Given the description of an element on the screen output the (x, y) to click on. 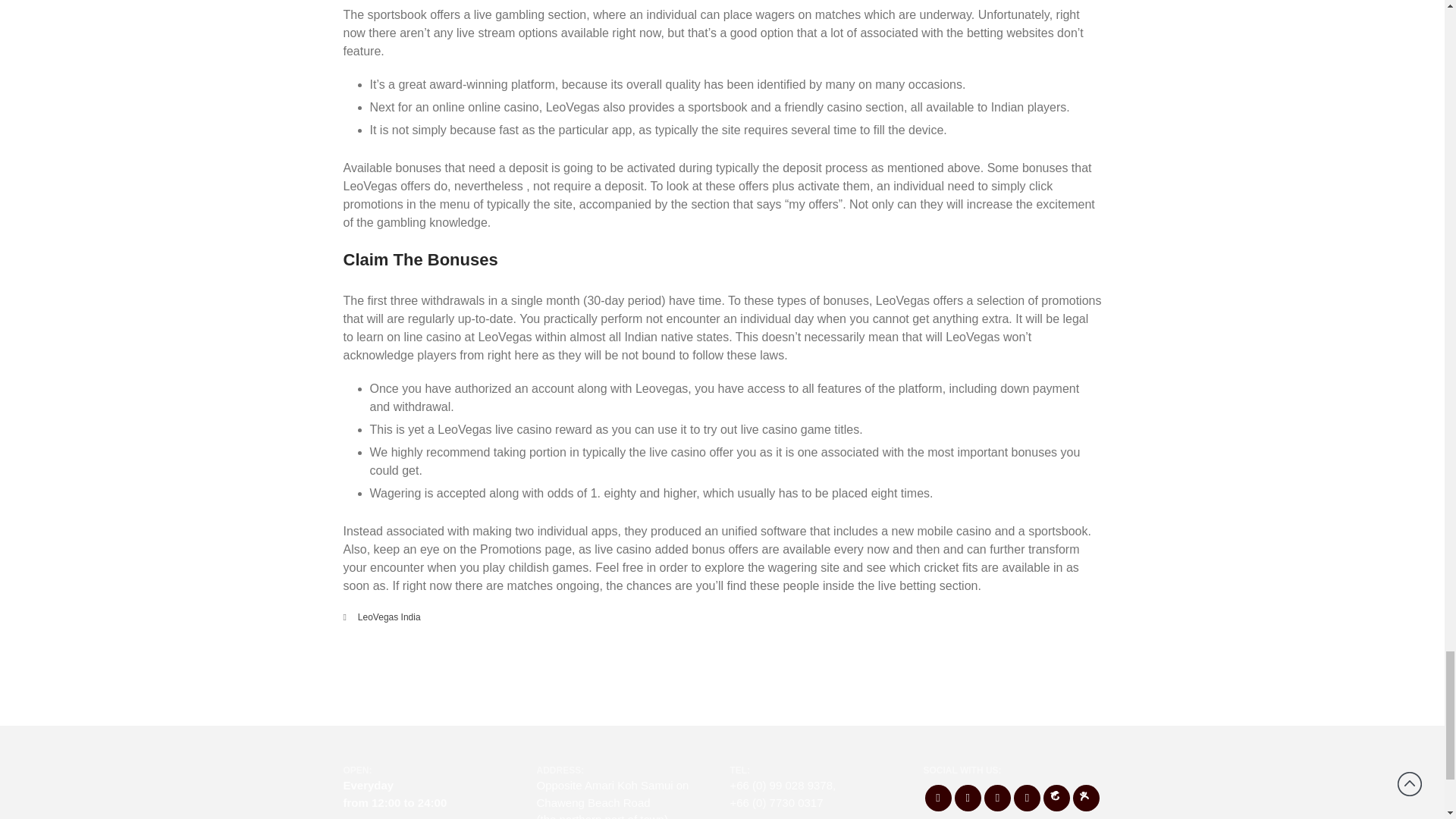
View all posts in LeoVegas India (389, 616)
